Given the description of an element on the screen output the (x, y) to click on. 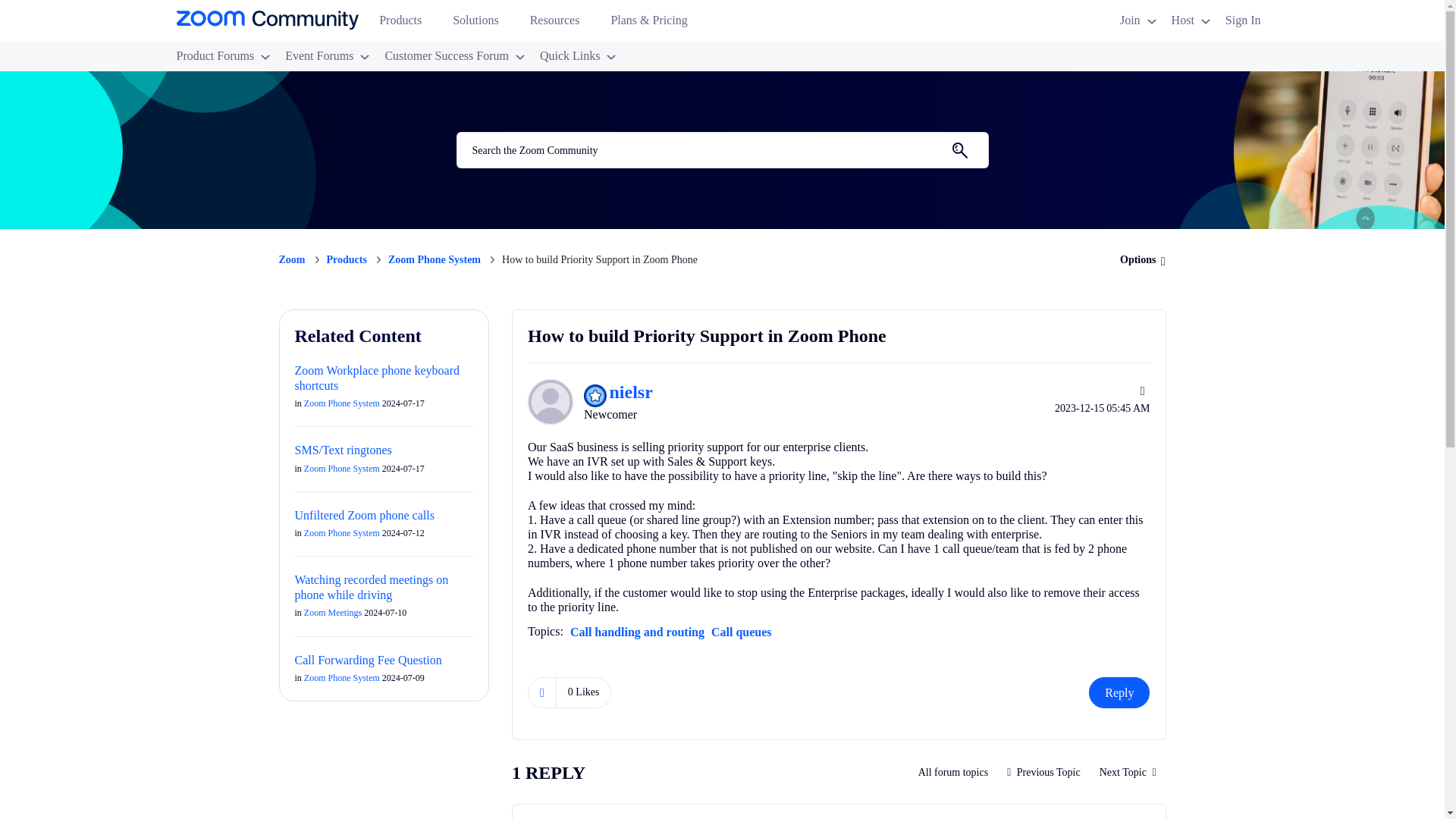
Newcomer (595, 395)
Option to Print or Save SMS Messages (1127, 772)
Products (406, 23)
Search (722, 149)
Click here to give likes to this post. (542, 692)
Zoom Phone System (953, 772)
Show option menu (1137, 259)
The total number of likes this post has received. (583, 692)
nielsr (550, 402)
Search (959, 149)
Search (959, 149)
Solutions (481, 23)
Manager access to call logs (1043, 772)
